Given the description of an element on the screen output the (x, y) to click on. 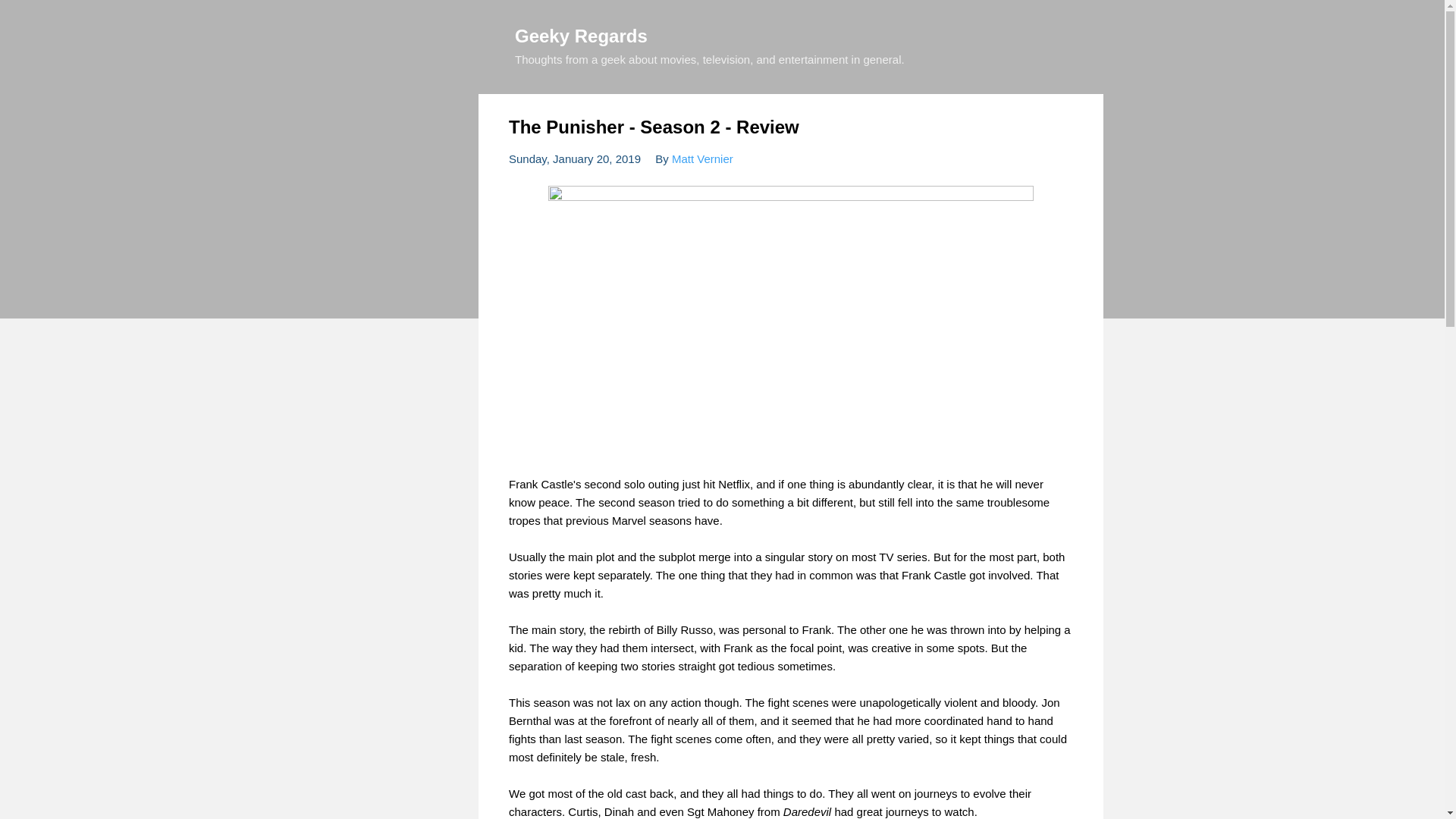
Sunday, January 20, 2019 (574, 158)
Search (29, 18)
author profile (702, 158)
Geeky Regards (581, 35)
Matt Vernier (702, 158)
permanent link (574, 158)
